Given the description of an element on the screen output the (x, y) to click on. 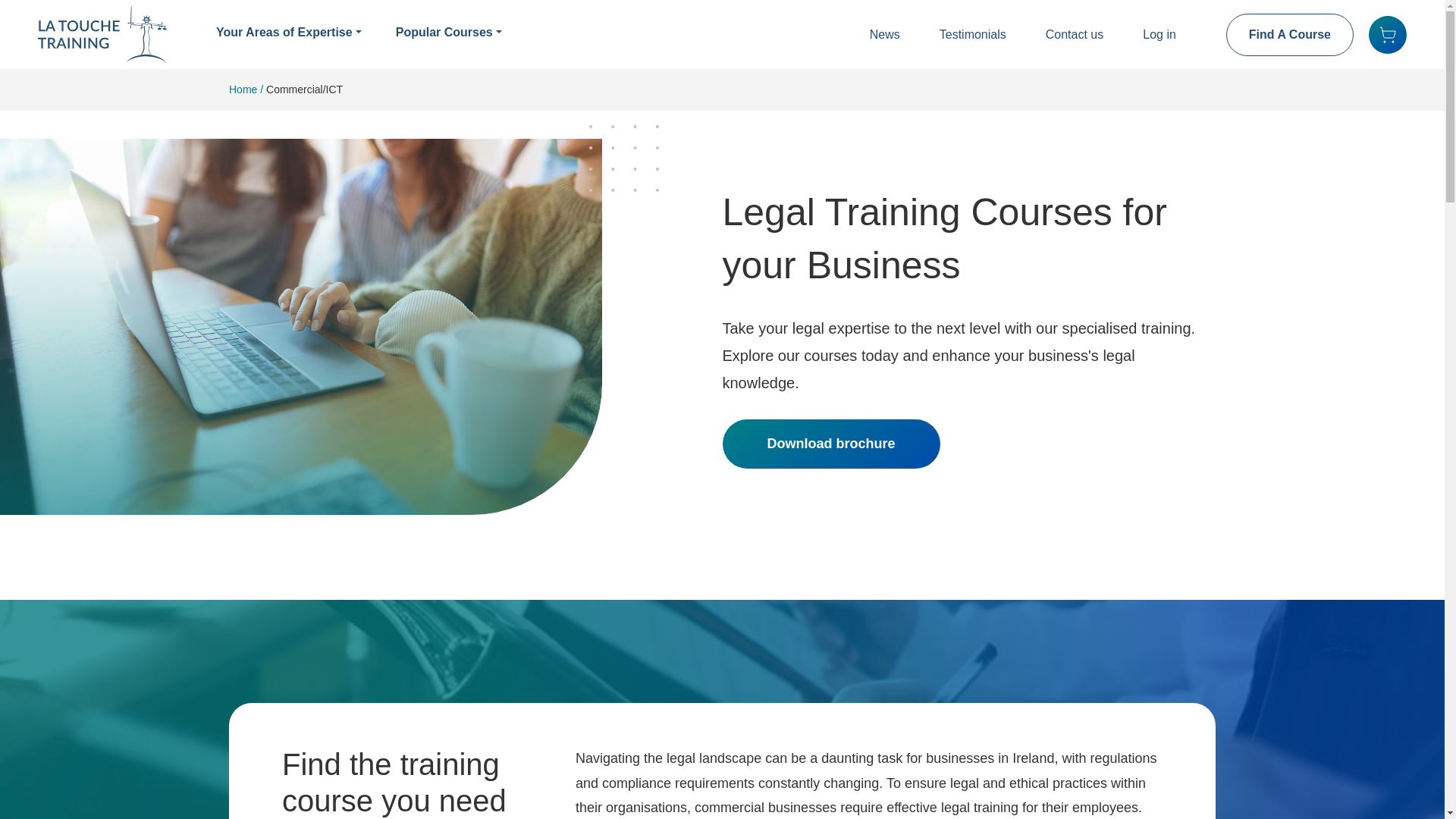
News (884, 34)
Your Areas of Expertise (288, 34)
Log in (1159, 34)
Find A Course (1289, 34)
Contact us (1074, 34)
Testimonials (972, 34)
Popular Courses (449, 34)
